Given the description of an element on the screen output the (x, y) to click on. 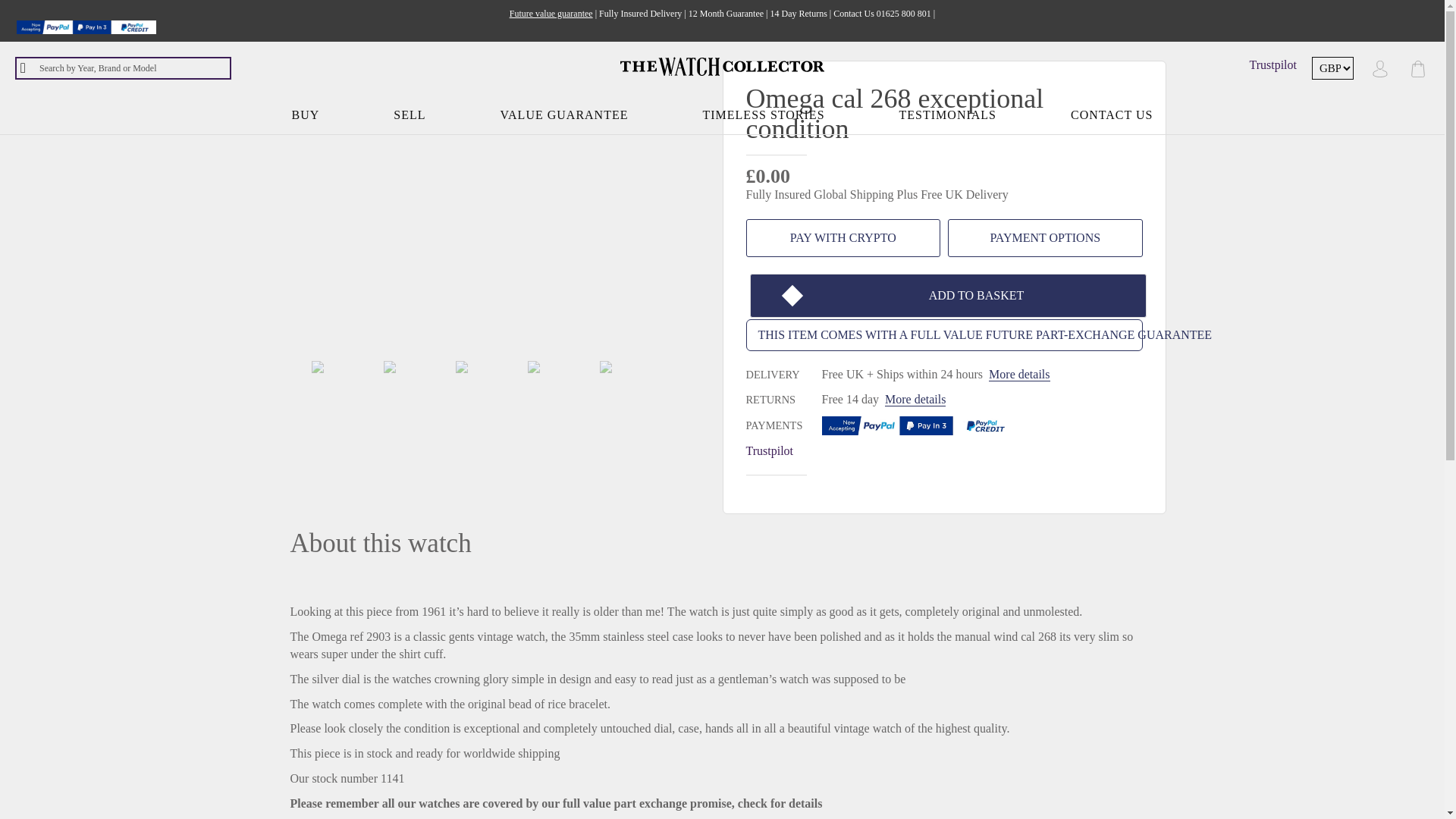
SELL (408, 115)
Future value guarantee (550, 13)
My account (1379, 67)
You have 0 items in your cart (1417, 67)
TIMELESS STORIES (762, 115)
BUY (306, 115)
VALUE GUARANTEE (564, 115)
Search (28, 67)
Trustpilot (1273, 64)
